Given the description of an element on the screen output the (x, y) to click on. 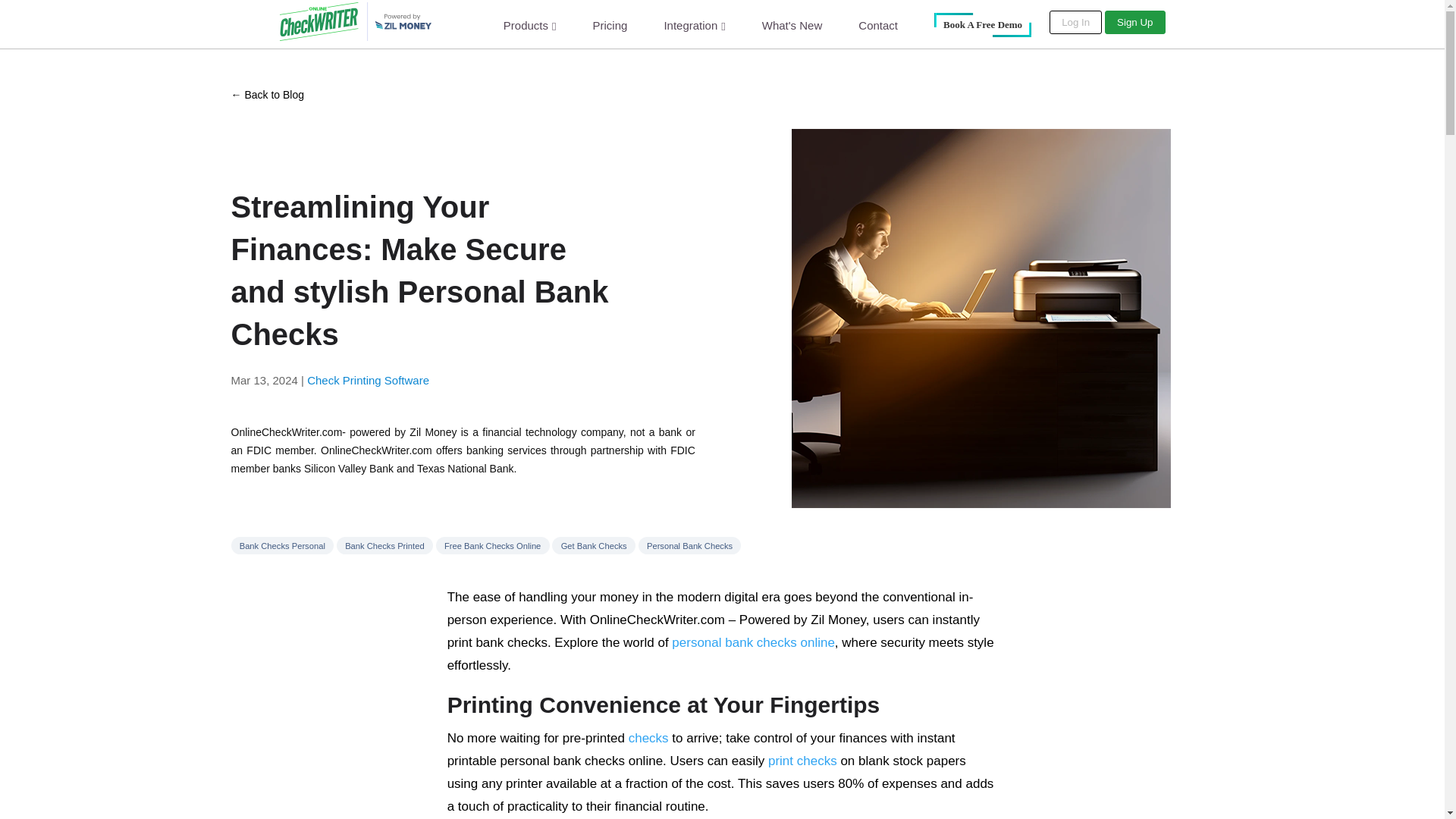
Bank Checks Personal (281, 545)
Contact (878, 24)
Bank Checks Printed (384, 545)
Integration (694, 25)
Check Printing Software (368, 379)
Products (529, 25)
Log In (1075, 22)
Sign Up (1134, 22)
Pricing (609, 24)
What's New (791, 24)
